Given the description of an element on the screen output the (x, y) to click on. 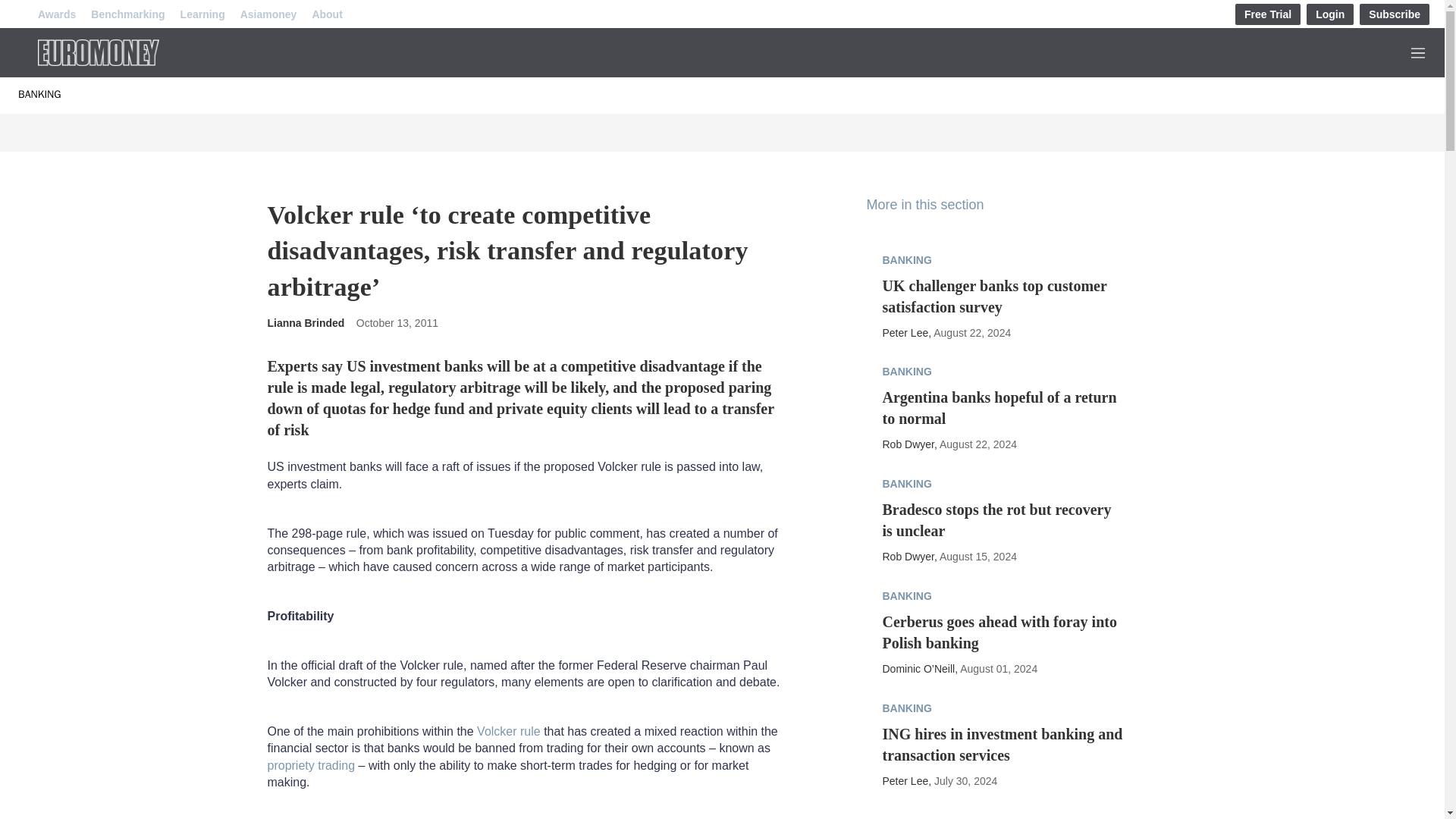
More on the Volcker rule (508, 730)
Subscribe (1394, 13)
Asiamoney (268, 13)
About (326, 13)
Benchmarking (127, 13)
More on propriety trading (310, 765)
Learning (202, 13)
Login (1329, 13)
Free Trial (1267, 13)
Awards (56, 13)
